Given the description of an element on the screen output the (x, y) to click on. 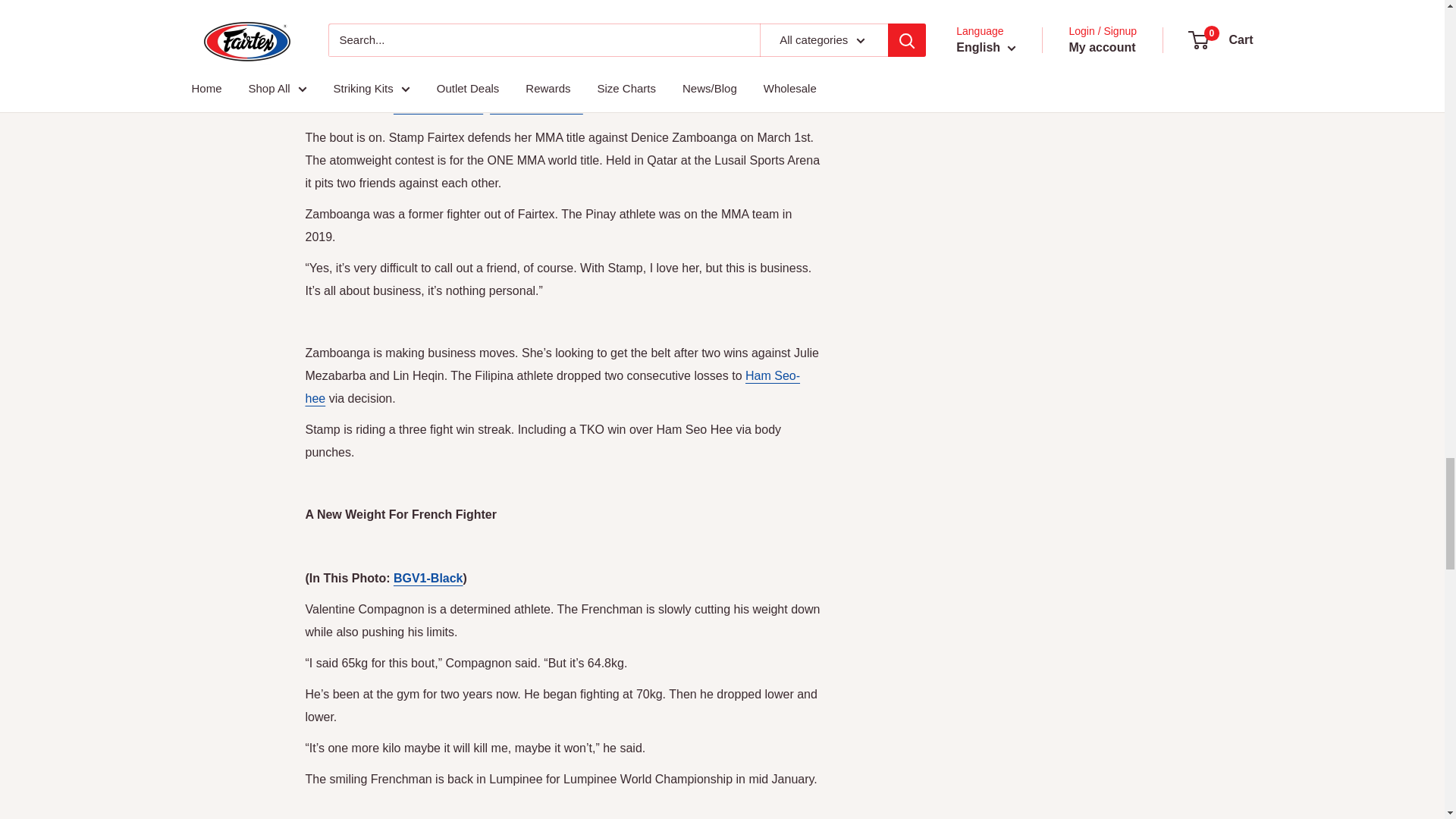
BPV3 Belly Pad (438, 106)
BGV1-Black (428, 577)
Fairtex SP5-Red (536, 106)
